Given the description of an element on the screen output the (x, y) to click on. 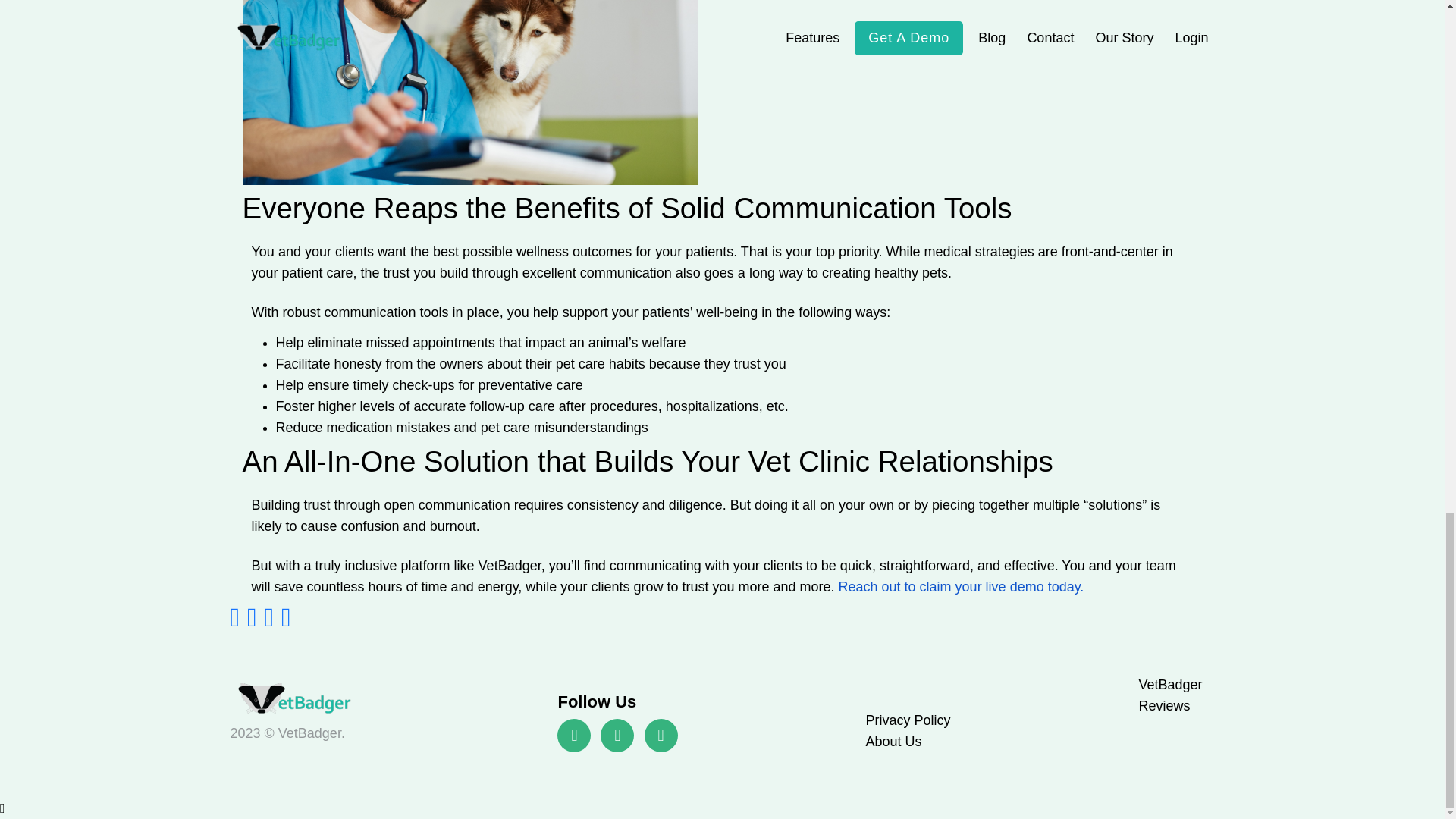
Reach out to claim your live demo today. (961, 586)
VetBadger Reviews (1170, 695)
About Us (892, 741)
VetBadger (299, 699)
Privacy Policy (907, 720)
